Given the description of an element on the screen output the (x, y) to click on. 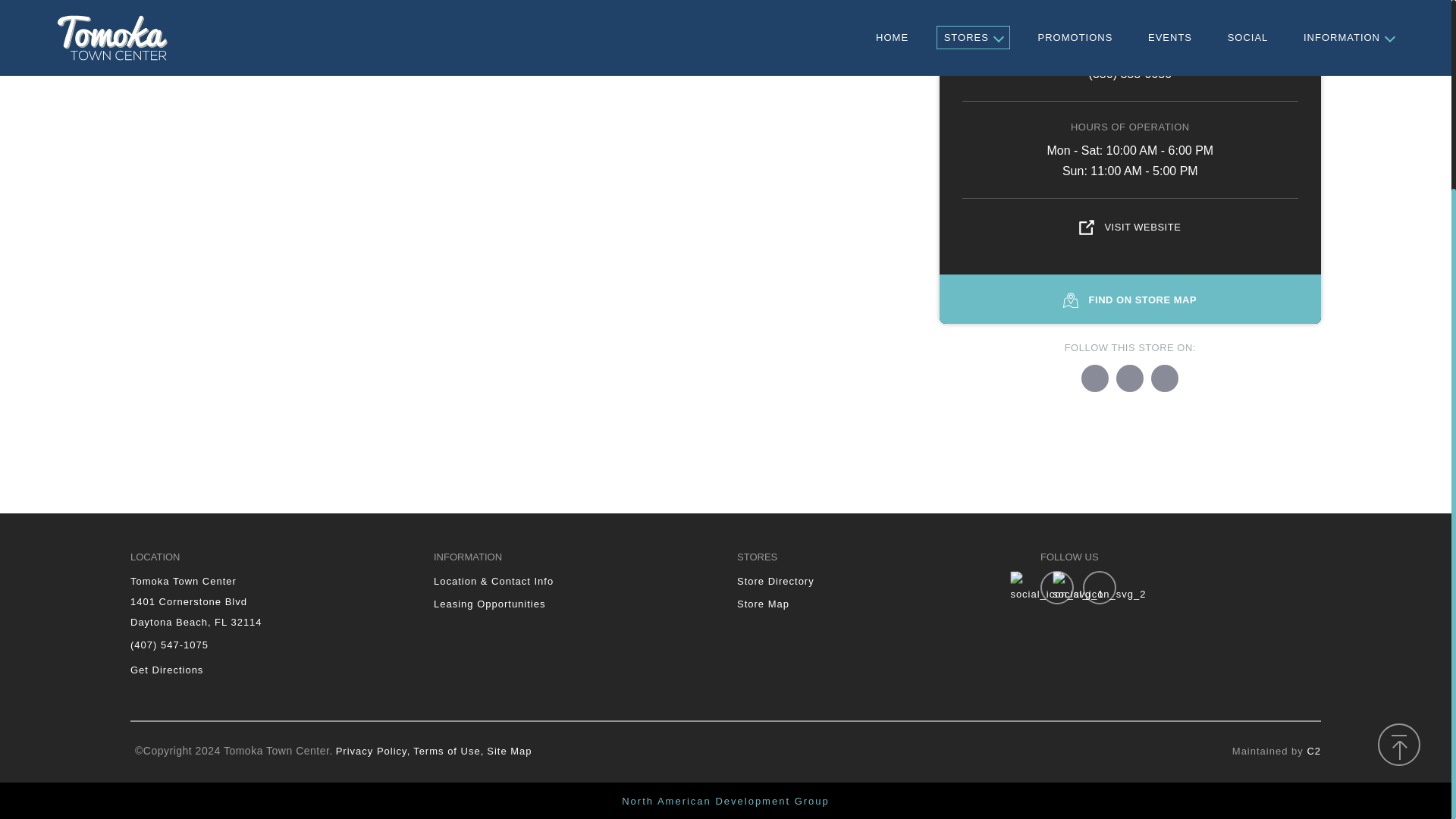
Leasing Opportunities (488, 603)
VISIT WEBSITE (1129, 225)
Store Map (762, 603)
Privacy Policy, (373, 751)
Site Map (508, 751)
North American Development Group (725, 800)
Terms of Use, (448, 751)
Store Directory (774, 580)
Get Directions (167, 670)
Maintained by C2 (1275, 751)
